Given the description of an element on the screen output the (x, y) to click on. 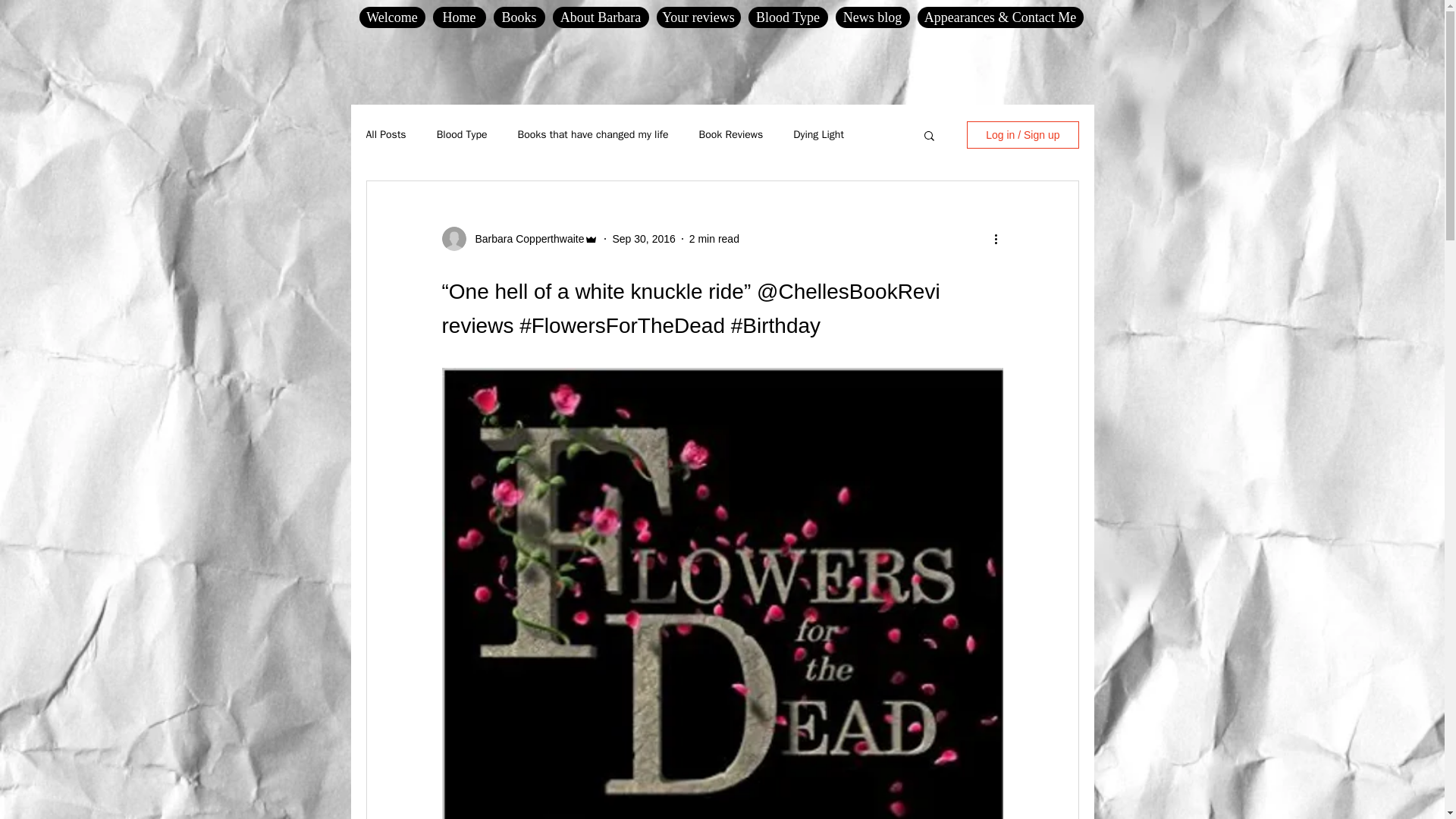
Sep 30, 2016 (643, 237)
Blood Type (787, 16)
Home (458, 16)
2 min read (713, 237)
Barbara Copperthwaite (524, 238)
Welcome (392, 16)
About Barbara (599, 16)
